Given the description of an element on the screen output the (x, y) to click on. 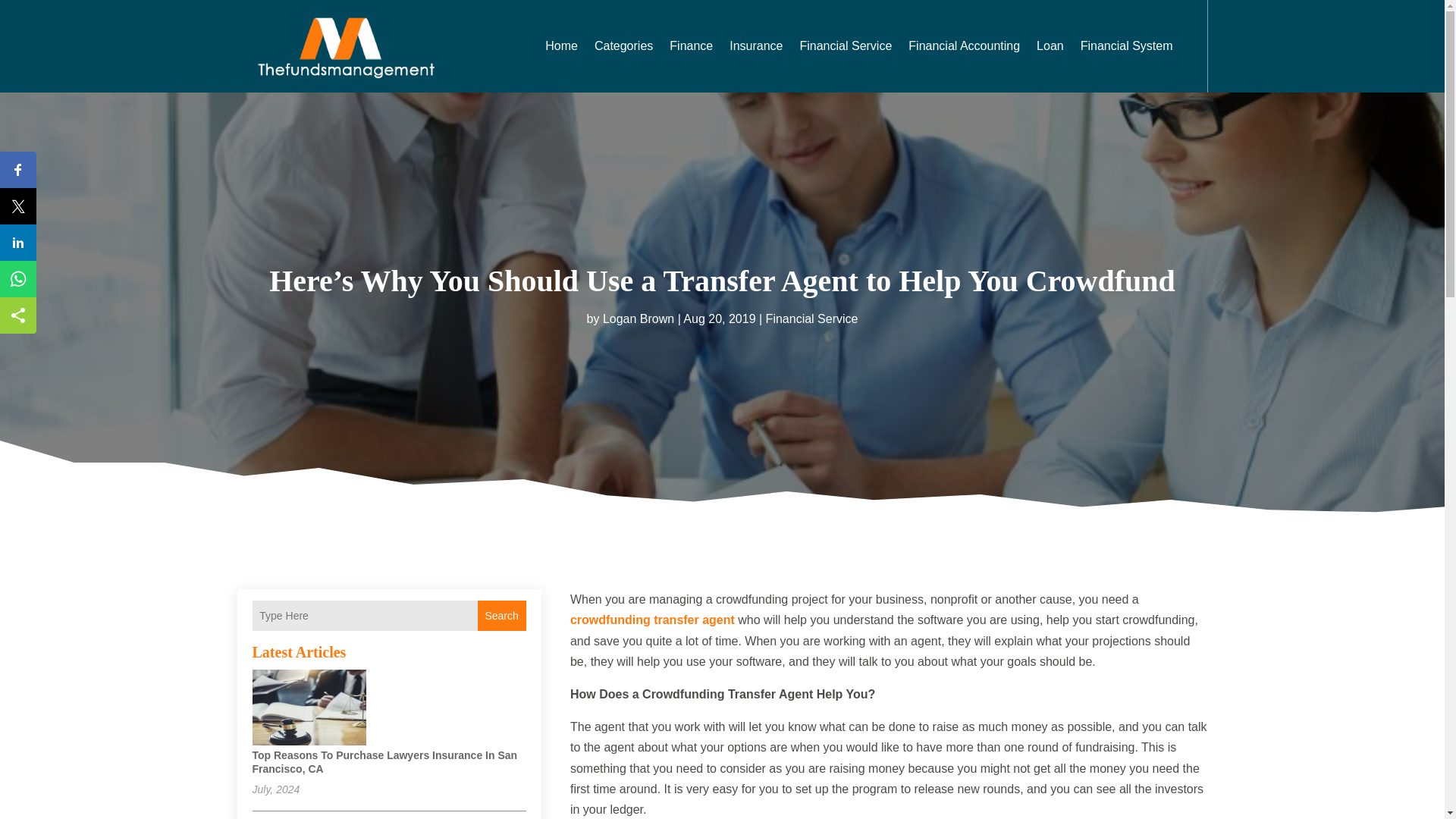
Financial Service (845, 46)
Logan Brown (638, 318)
Financial Service (812, 318)
Search (501, 615)
Financial System (1126, 46)
Posts by Logan Brown (638, 318)
Financial Accounting (964, 46)
